Given the description of an element on the screen output the (x, y) to click on. 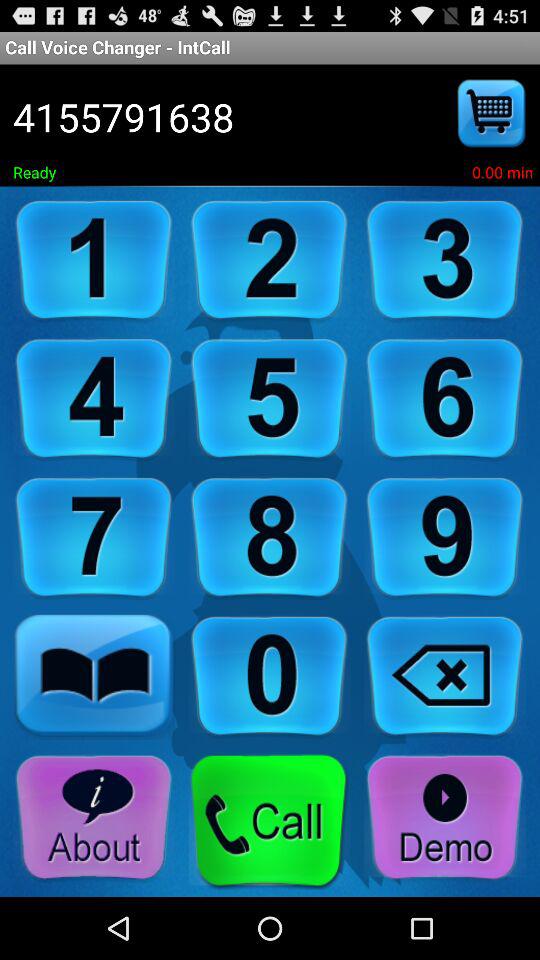
number 3 (445, 260)
